Given the description of an element on the screen output the (x, y) to click on. 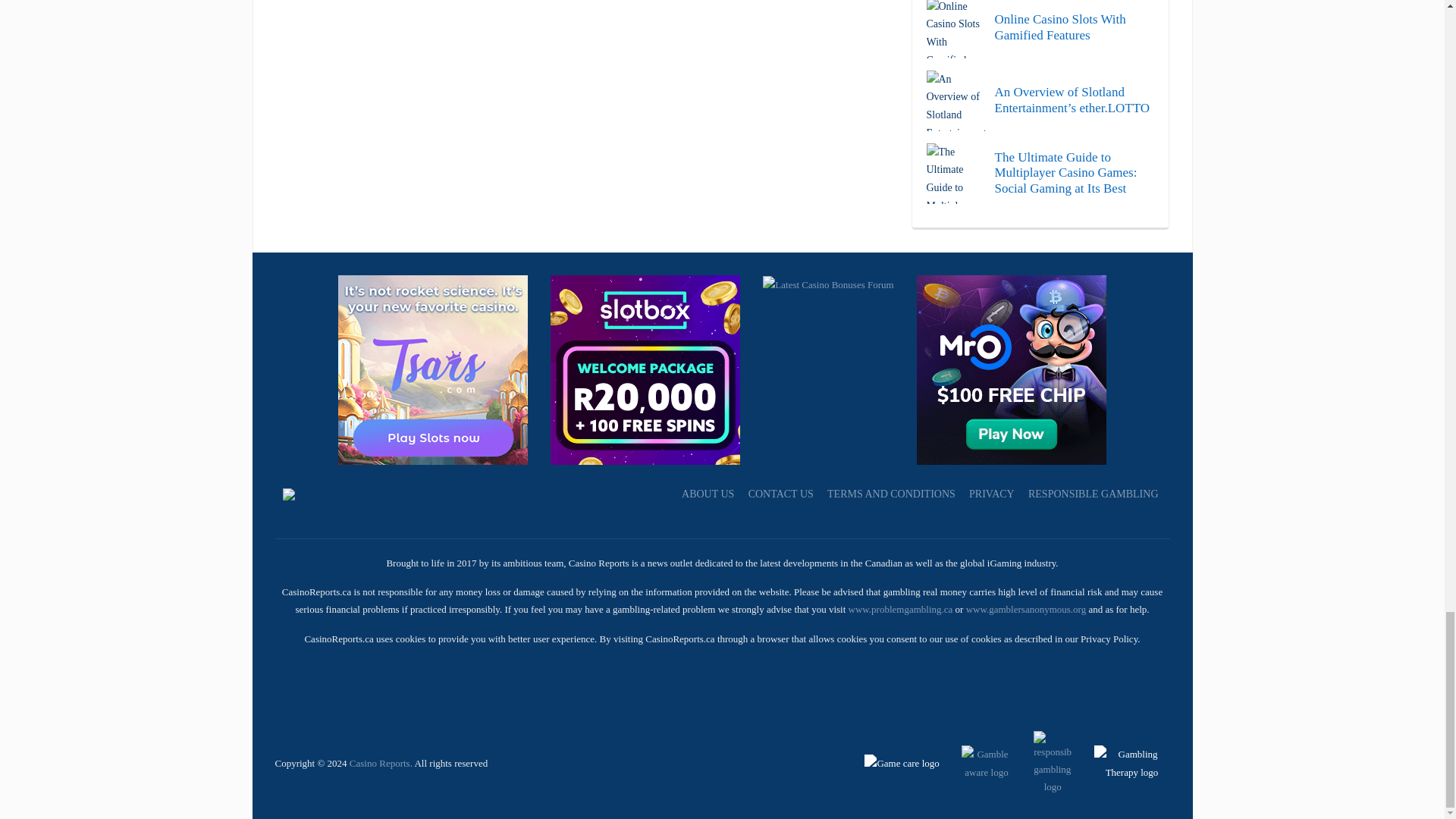
Online Casino Slots With Gamified Features (1040, 29)
Gamble Aware (977, 762)
Latest Casino Bonuses Forum (827, 283)
Gambling Therapy (1121, 762)
Responsible Gambling (1043, 762)
Game Care (903, 762)
